Given the description of an element on the screen output the (x, y) to click on. 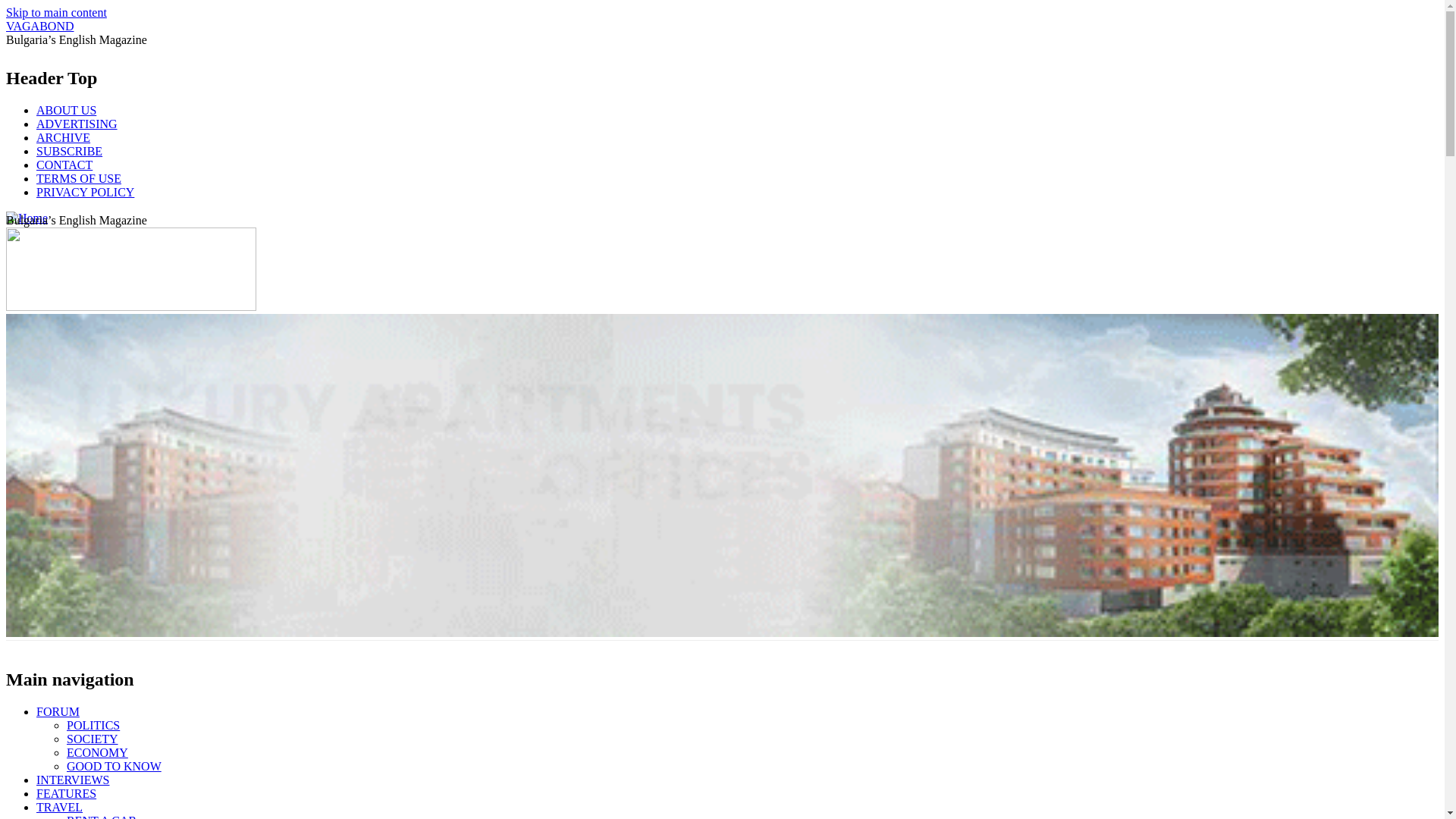
FORUM (58, 711)
CONTACT (64, 164)
TRAVEL (59, 807)
ADVERTISING (76, 123)
CONTACT (64, 164)
ABOUT US (66, 110)
SUBSCRIBE (68, 151)
TERMS OF USE (78, 178)
SOCIETY (91, 738)
TERMS OF USE (78, 178)
Skip to main content (55, 11)
ARCHIVE (63, 137)
ECONOMY (97, 752)
GOOD TO KNOW (113, 766)
SOCIETY (91, 738)
